Given the description of an element on the screen output the (x, y) to click on. 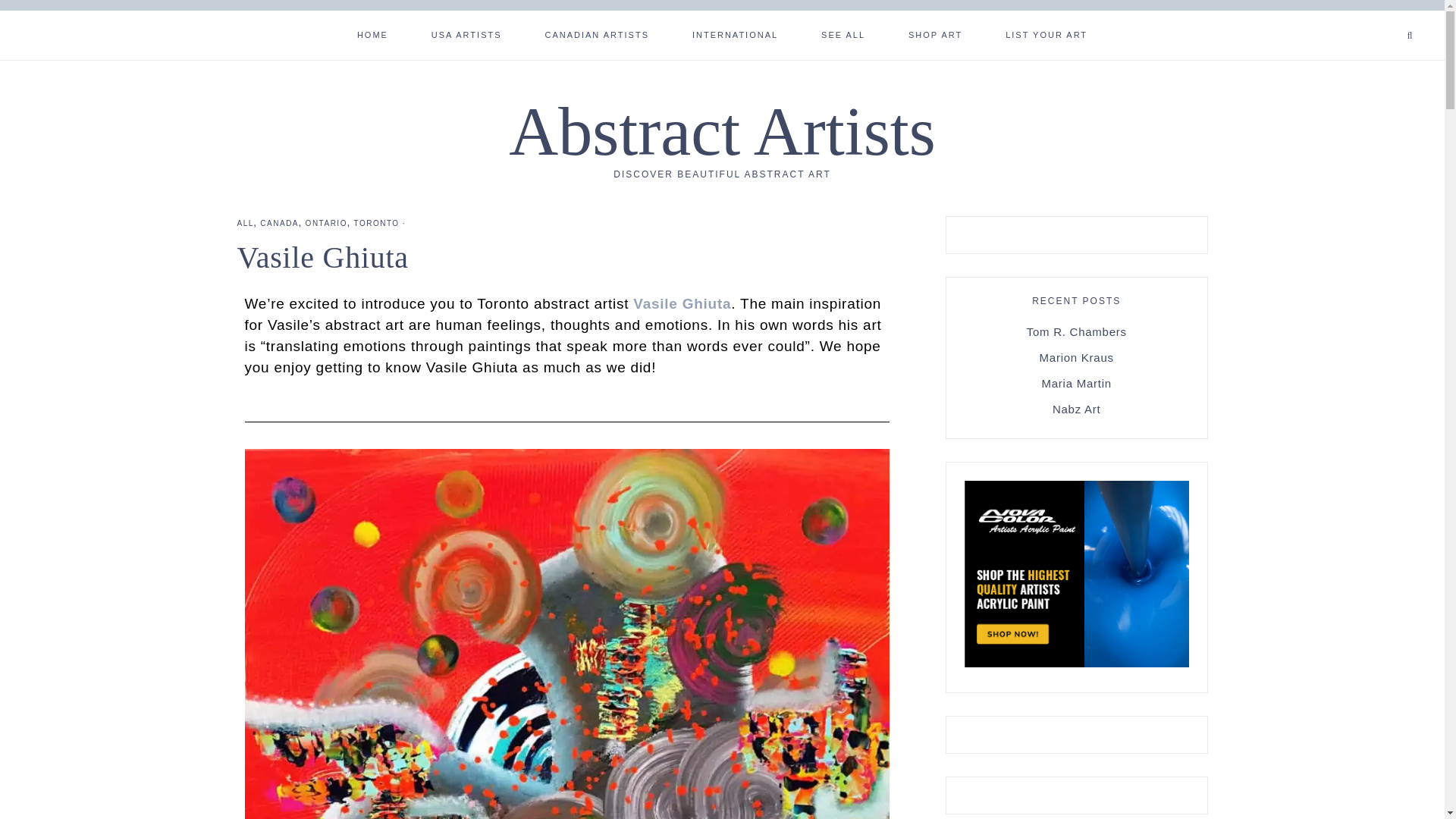
INTERNATIONAL (734, 33)
USA ARTISTS (466, 33)
Vasile Ghiuta (681, 303)
ONTARIO (326, 223)
Abstract Artists (721, 131)
HOME (372, 33)
CANADA (279, 223)
SEE ALL (843, 33)
ALL (244, 223)
LIST YOUR ART (1045, 33)
